Given the description of an element on the screen output the (x, y) to click on. 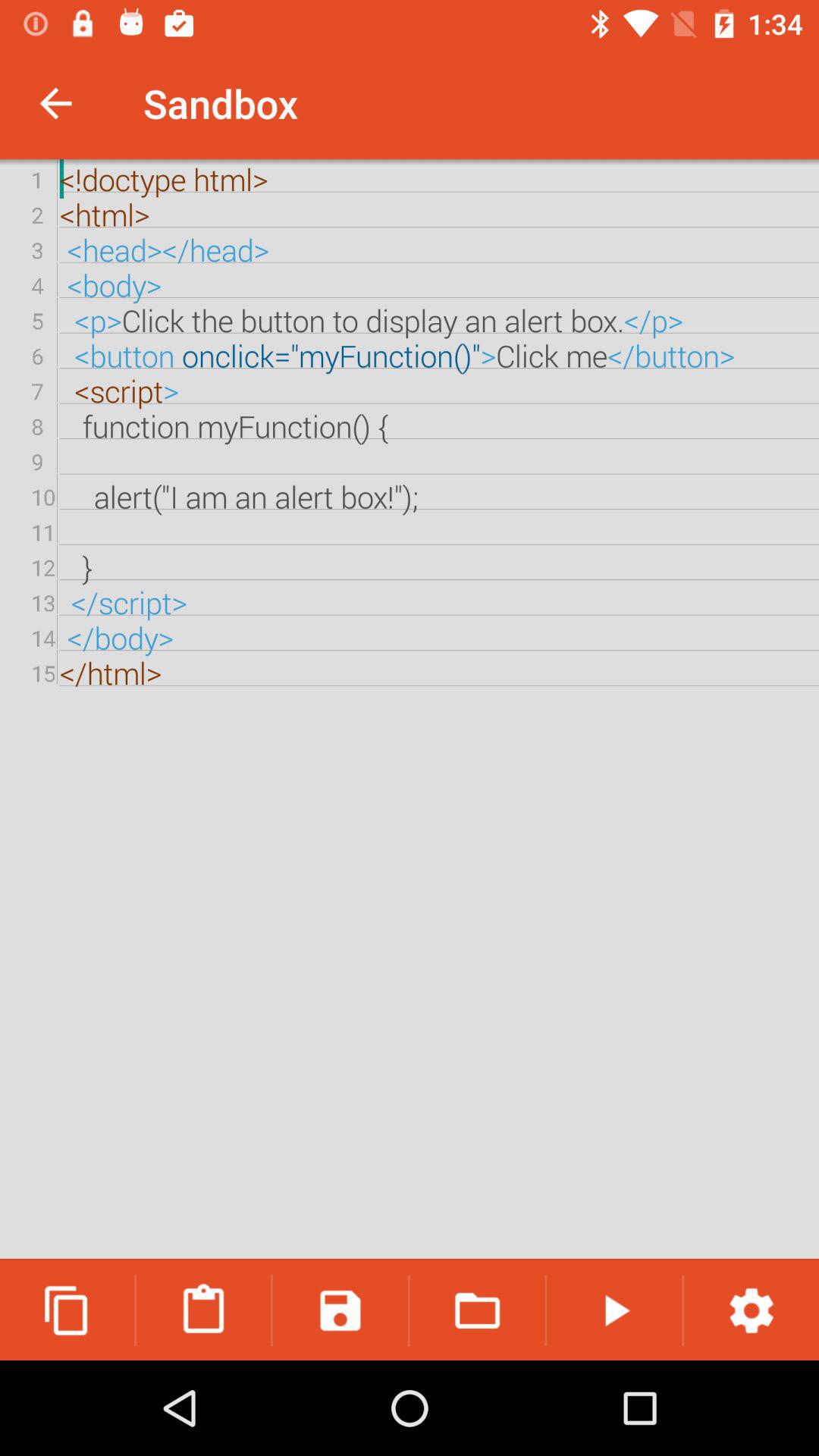
press icon above the doctype html html icon (55, 103)
